Given the description of an element on the screen output the (x, y) to click on. 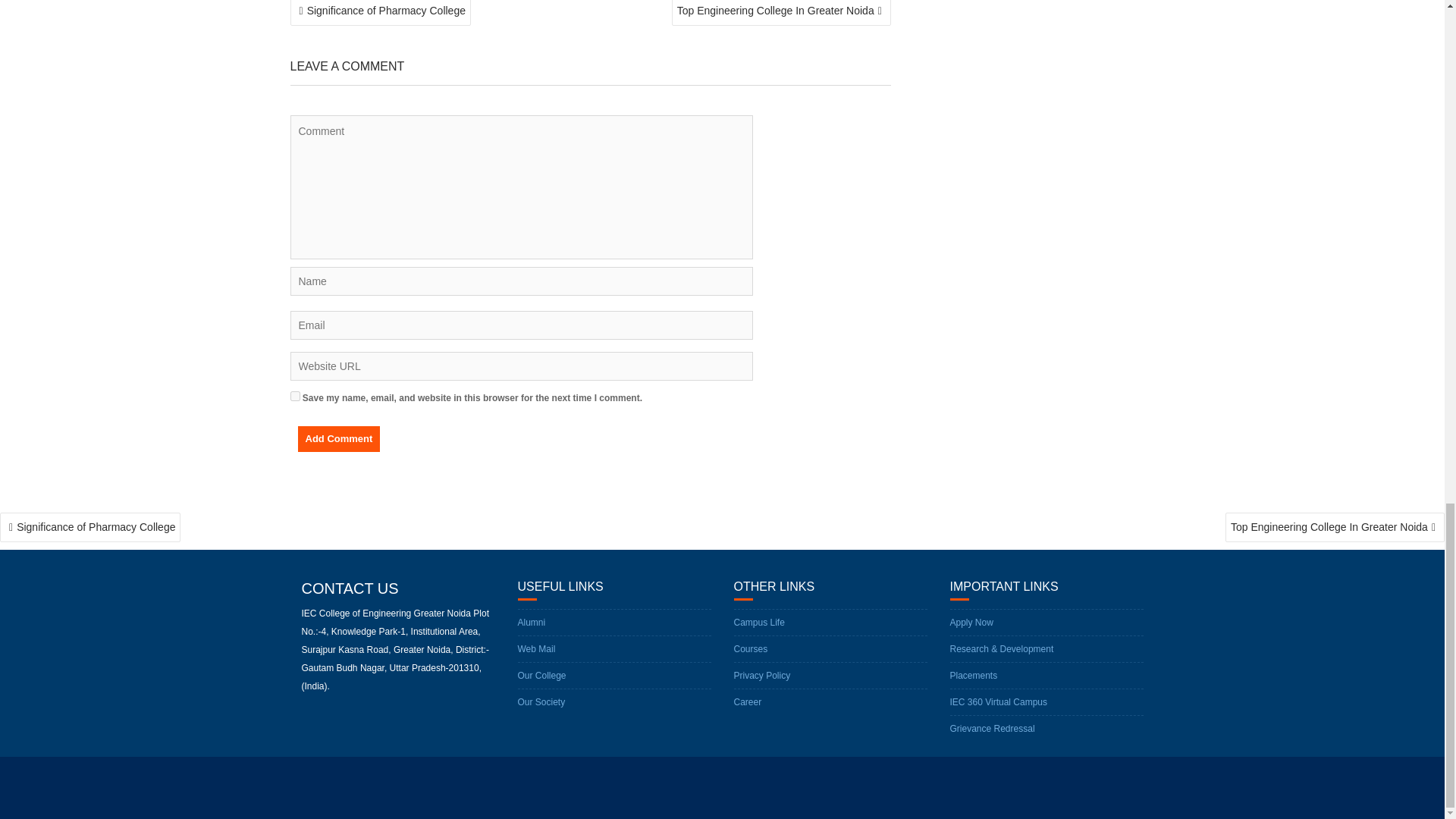
Add Comment (338, 438)
Add Comment (338, 438)
Top Engineering College In Greater Noida (781, 12)
Significance of Pharmacy College (379, 12)
yes (294, 396)
